Given the description of an element on the screen output the (x, y) to click on. 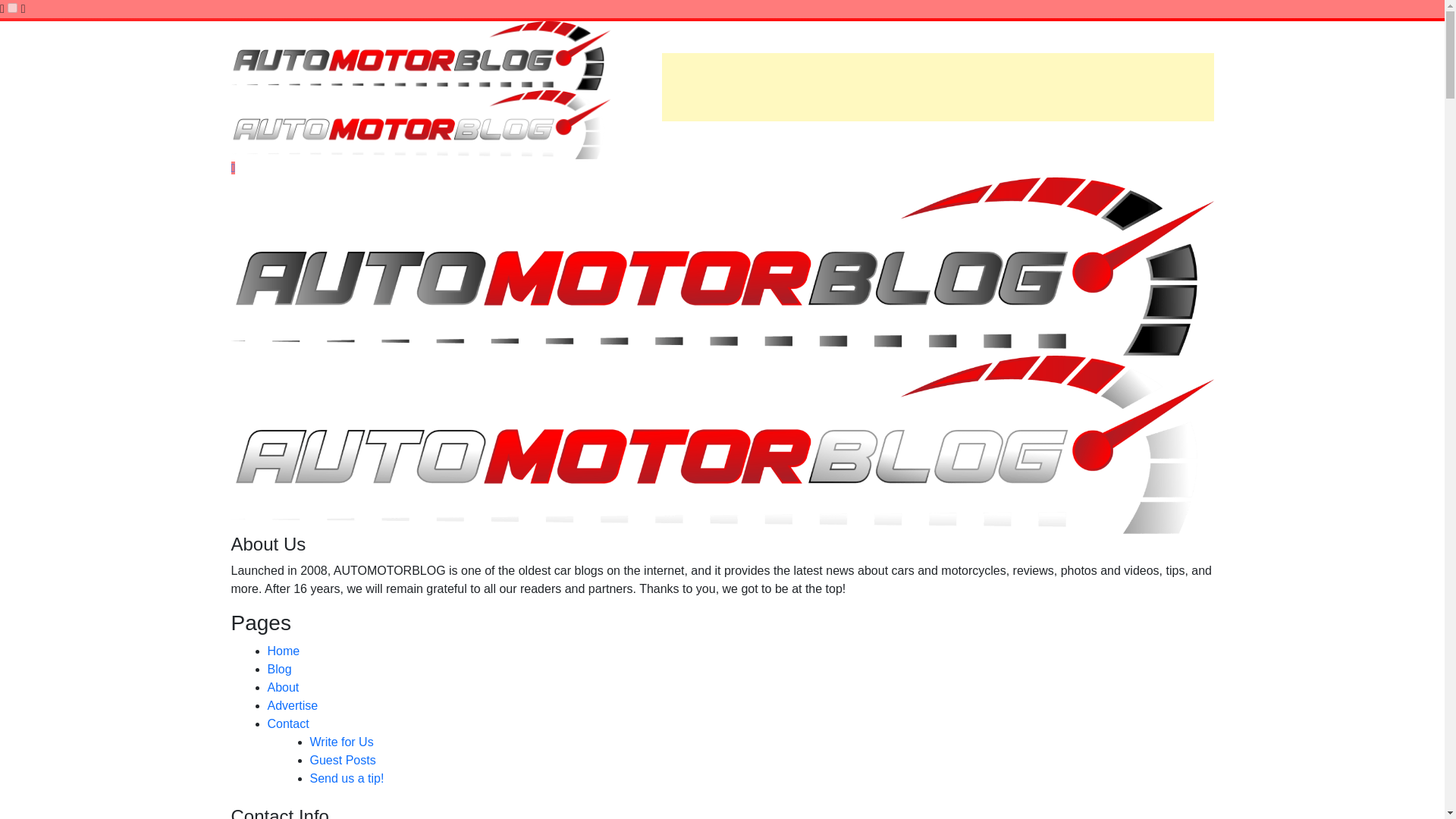
Blog (278, 668)
Guest Posts (341, 759)
Advertisement (936, 87)
Home (282, 650)
on (12, 8)
Contact (287, 723)
Write for Us (340, 741)
Send us a tip! (346, 778)
Advertise (291, 705)
About (282, 686)
